Given the description of an element on the screen output the (x, y) to click on. 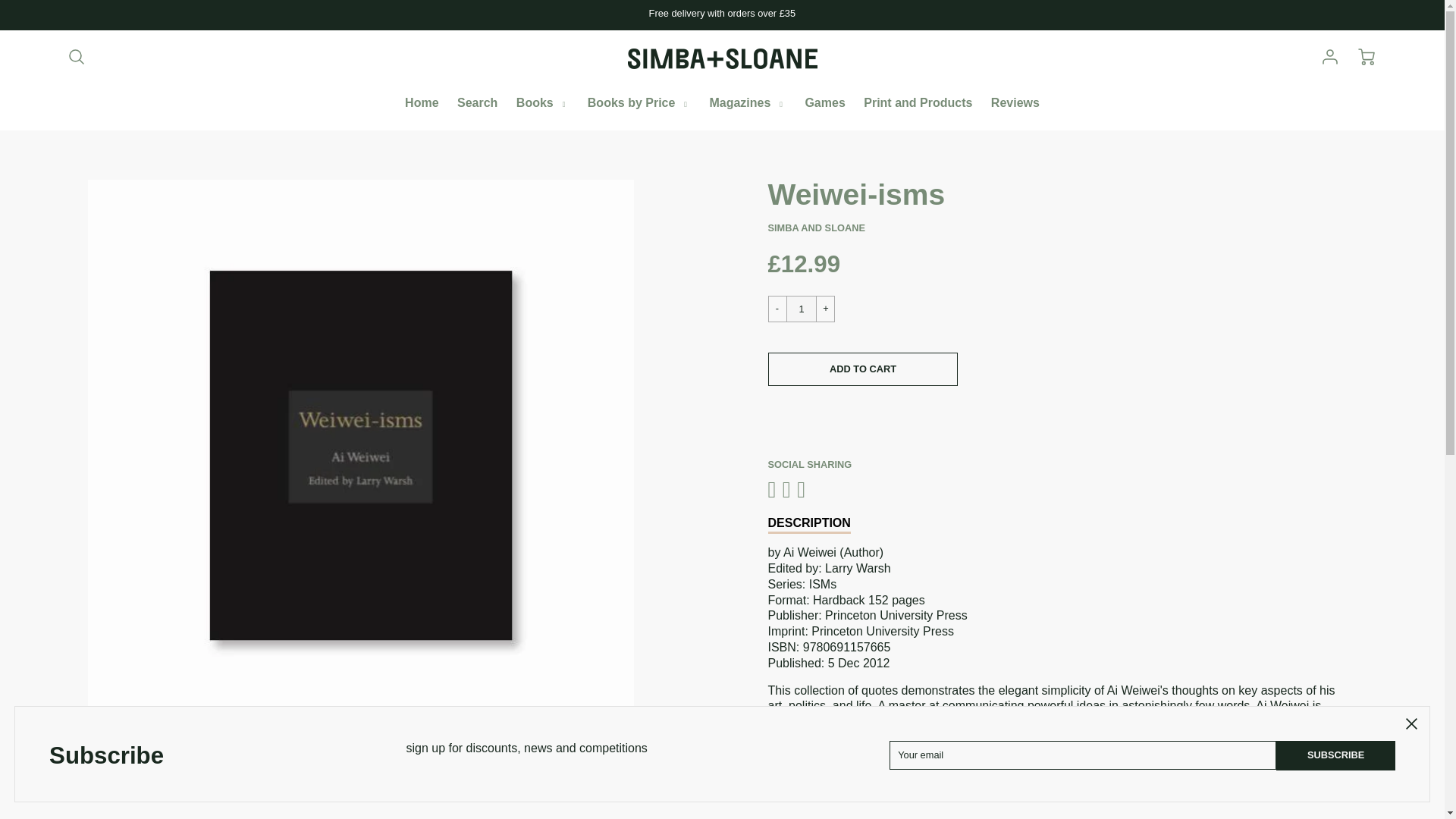
1 (801, 308)
Books (542, 103)
Home (421, 103)
Books by Price (638, 103)
Search (477, 103)
simba and sloane (815, 227)
